Given the description of an element on the screen output the (x, y) to click on. 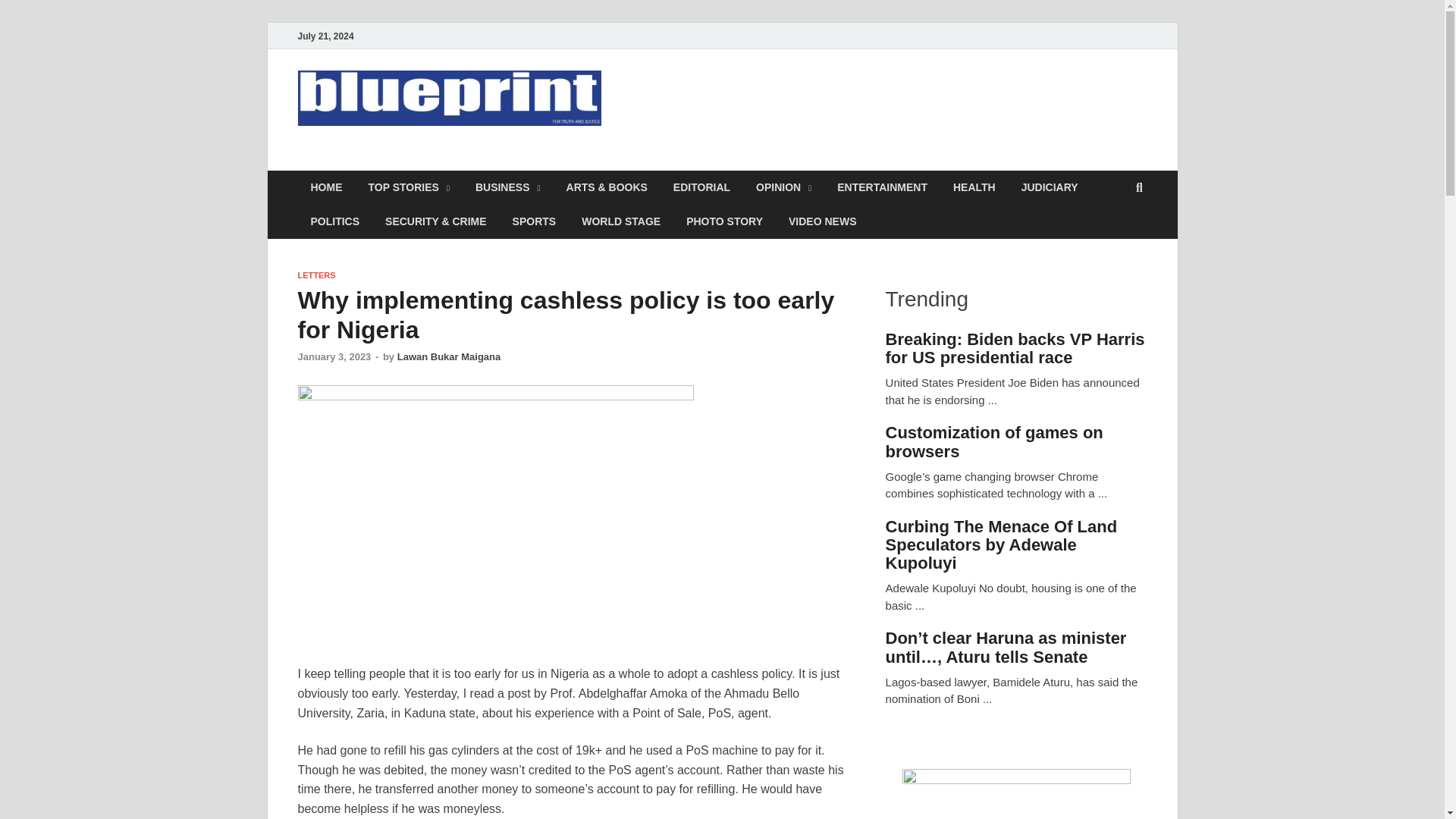
TOP STORIES (408, 187)
BUSINESS (508, 187)
ENTERTAINMENT (882, 187)
HOME (326, 187)
Blueprint Newspapers Limited (504, 161)
OPINION (783, 187)
EDITORIAL (701, 187)
